Given the description of an element on the screen output the (x, y) to click on. 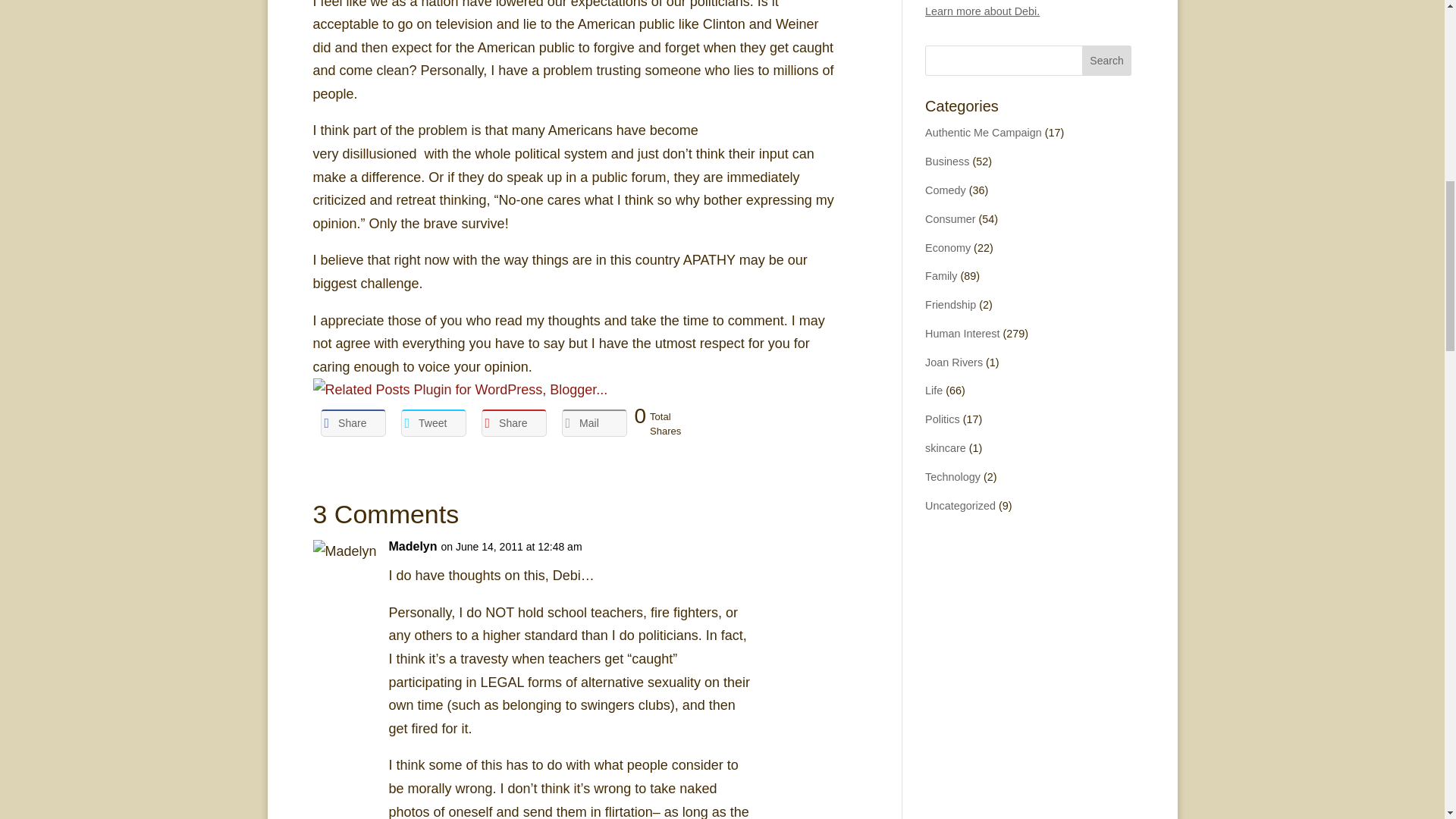
Share on Twitter (432, 422)
Share on Facebook (352, 422)
Share it on Email (593, 422)
Share on Pinterest (513, 422)
Search (1106, 60)
